Given the description of an element on the screen output the (x, y) to click on. 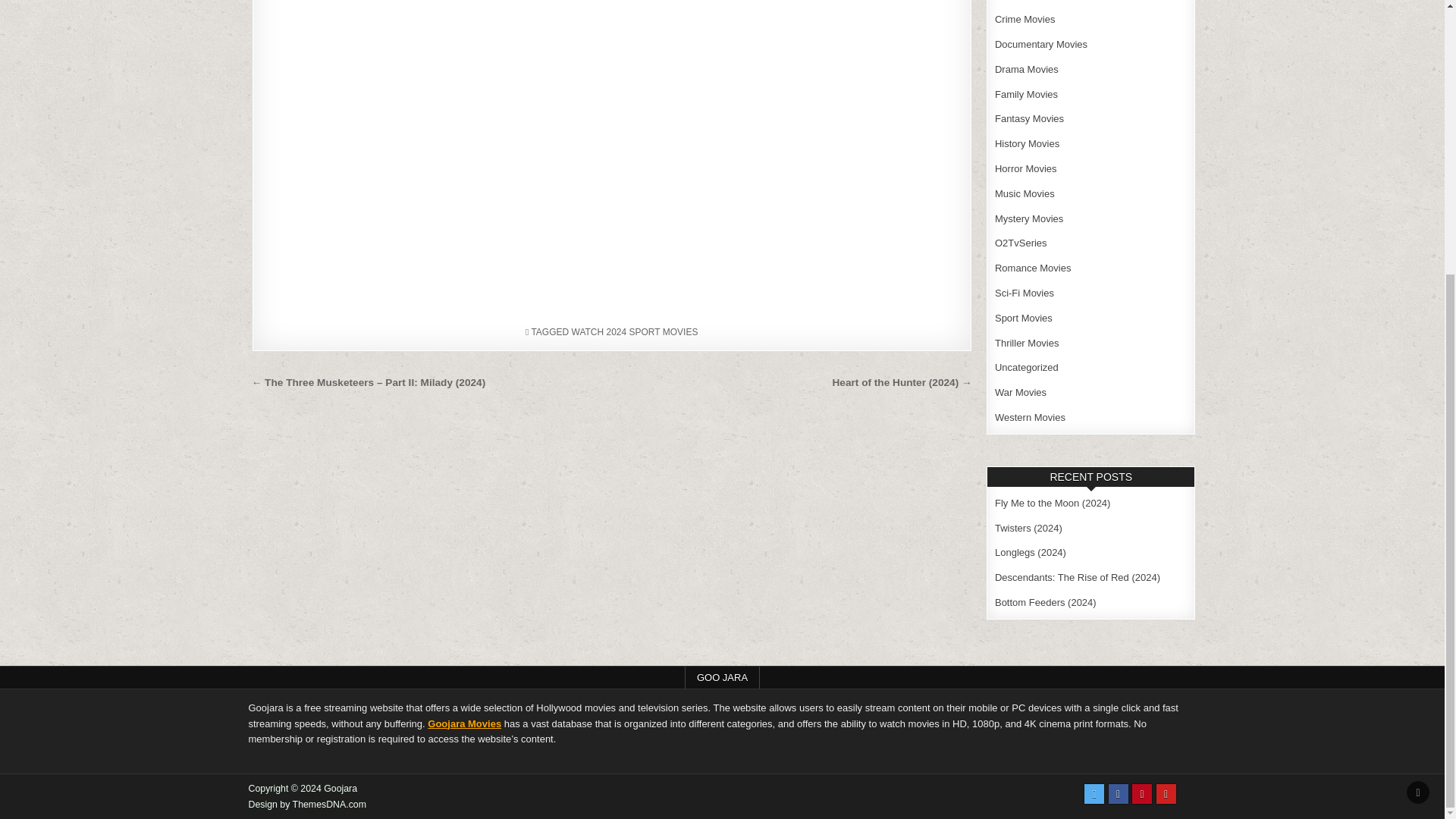
Documentary Movies (1040, 43)
History Movies (1026, 143)
Drama Movies (1026, 69)
WATCH 2024 SPORT MOVIES (635, 331)
Scroll to Top (1417, 388)
Horror Movies (1025, 168)
SCROLL TO TOP (1417, 388)
Family Movies (1026, 93)
Mystery Movies (1028, 218)
Fantasy Movies (1029, 118)
SCROLL TO TOP (1417, 388)
Music Movies (1024, 193)
Crime Movies (1024, 19)
